Given the description of an element on the screen output the (x, y) to click on. 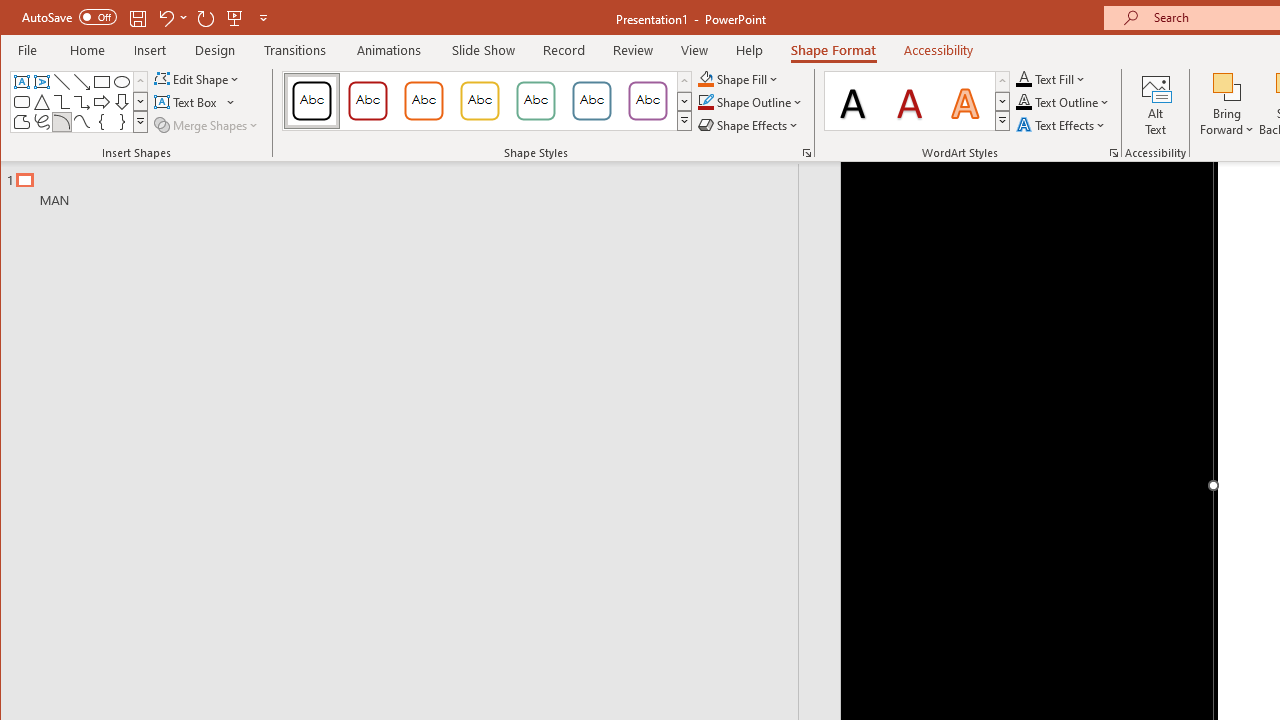
Review (632, 50)
Bring Forward (1227, 86)
Accessibility (938, 50)
AutomationID: ShapeStylesGallery (488, 101)
Colored Outline - Green, Accent 4 (536, 100)
Oval (121, 82)
Shape Fill (739, 78)
Shapes (140, 121)
File Tab (28, 49)
Rectangle: Rounded Corners (21, 102)
Vertical Text Box (42, 82)
Class: NetUIImage (1002, 120)
Home (87, 50)
Format Object... (806, 152)
Text Fill RGB(0, 0, 0) (1023, 78)
